Given the description of an element on the screen output the (x, y) to click on. 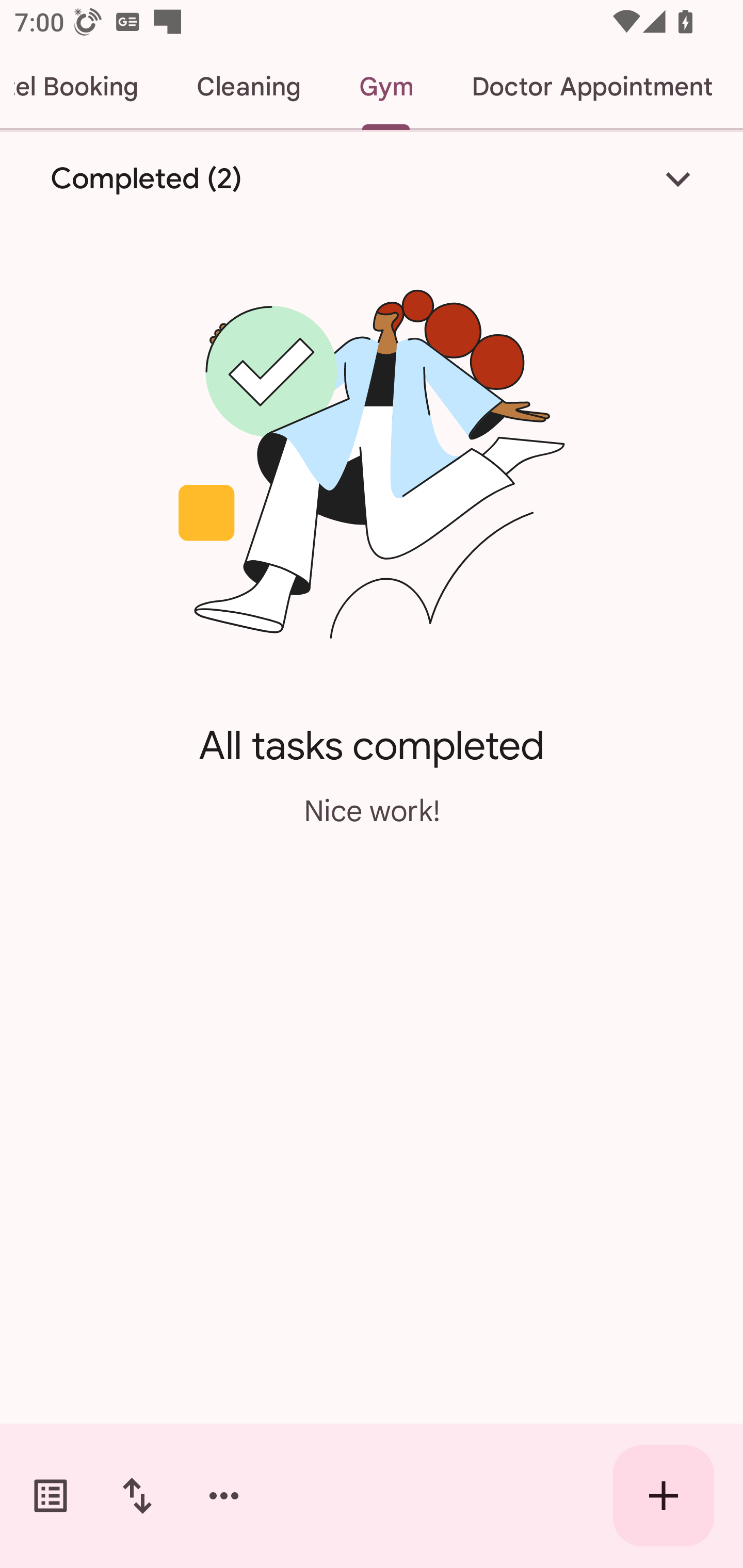
Cleaning (248, 86)
Doctor Appointment (591, 86)
Completed (2) (371, 178)
Switch task lists (50, 1495)
Create new task (663, 1495)
Change sort order (136, 1495)
More options (223, 1495)
